Given the description of an element on the screen output the (x, y) to click on. 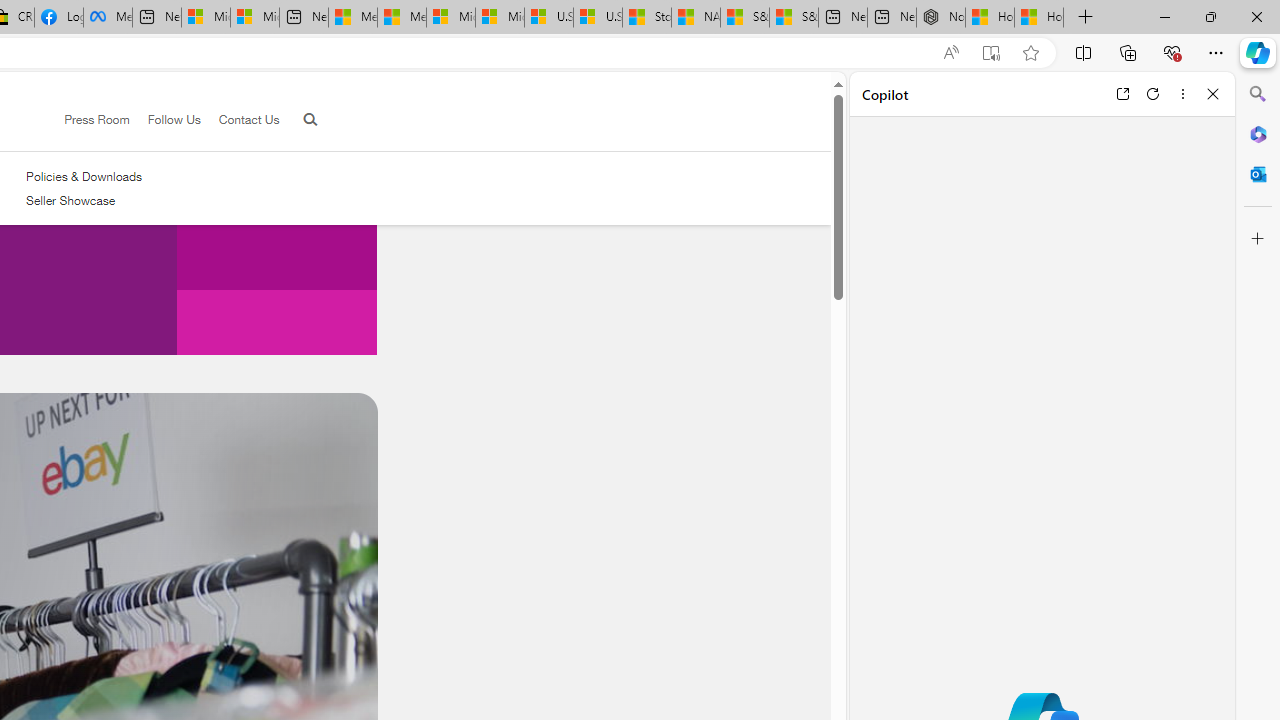
More options (1182, 93)
Press Room (97, 119)
Contact Us (248, 119)
Seller Showcase (84, 201)
Follow Us (164, 120)
Split screen (1083, 52)
Minimize (1164, 16)
Customize (1258, 239)
How to Use a Monitor With Your Closed Laptop (1039, 17)
Seller Showcase (70, 200)
Meta Store (107, 17)
Microsoft account | Privacy (254, 17)
Contact Us (239, 120)
